Given the description of an element on the screen output the (x, y) to click on. 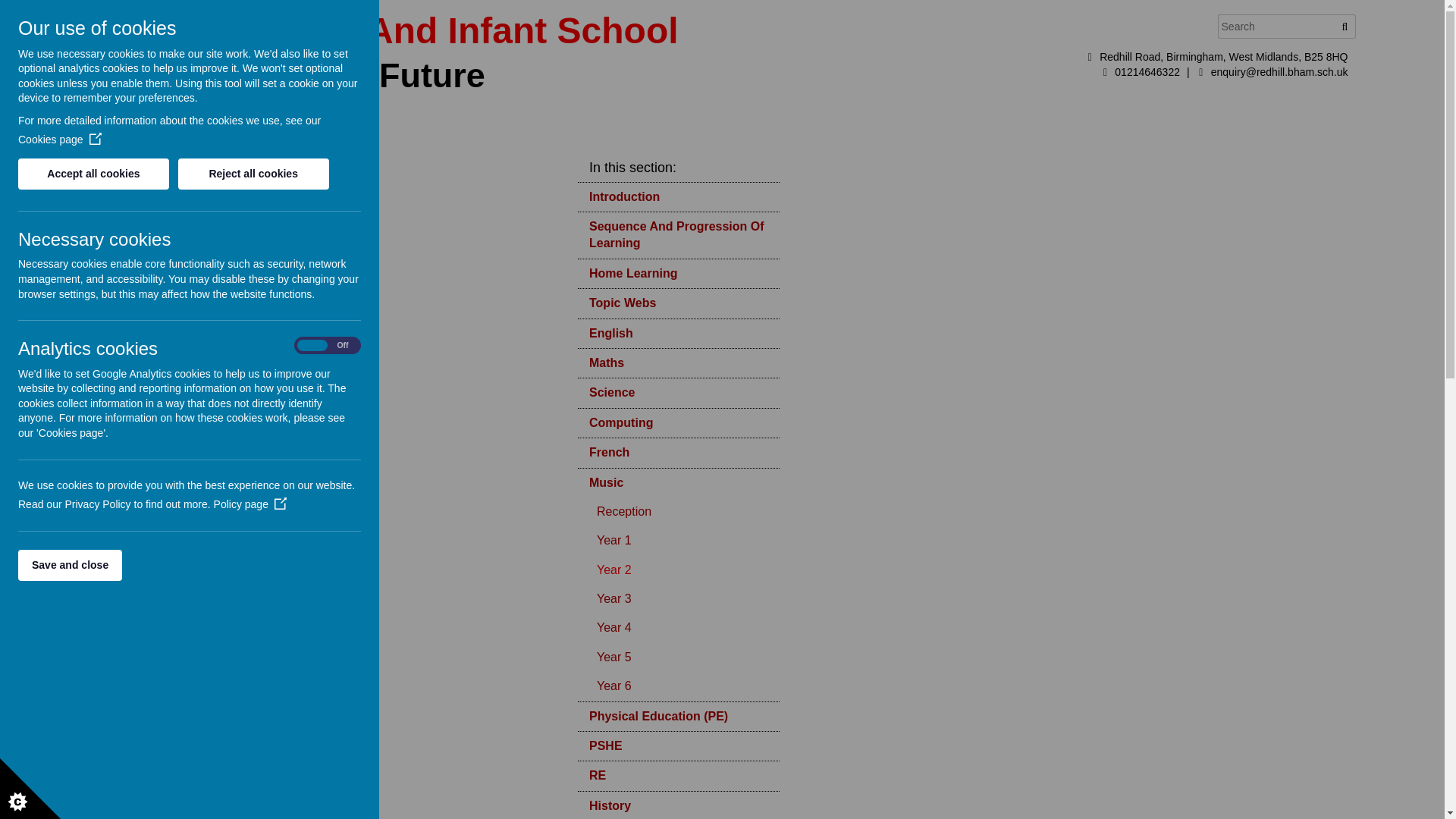
History (678, 805)
Year 4 (681, 627)
Home Learning (678, 273)
Topic Webs (678, 303)
Year 1 (681, 540)
Computing (678, 422)
Cookie Control Icon (30, 788)
on (327, 345)
Maths (678, 362)
PSHE (678, 746)
